Given the description of an element on the screen output the (x, y) to click on. 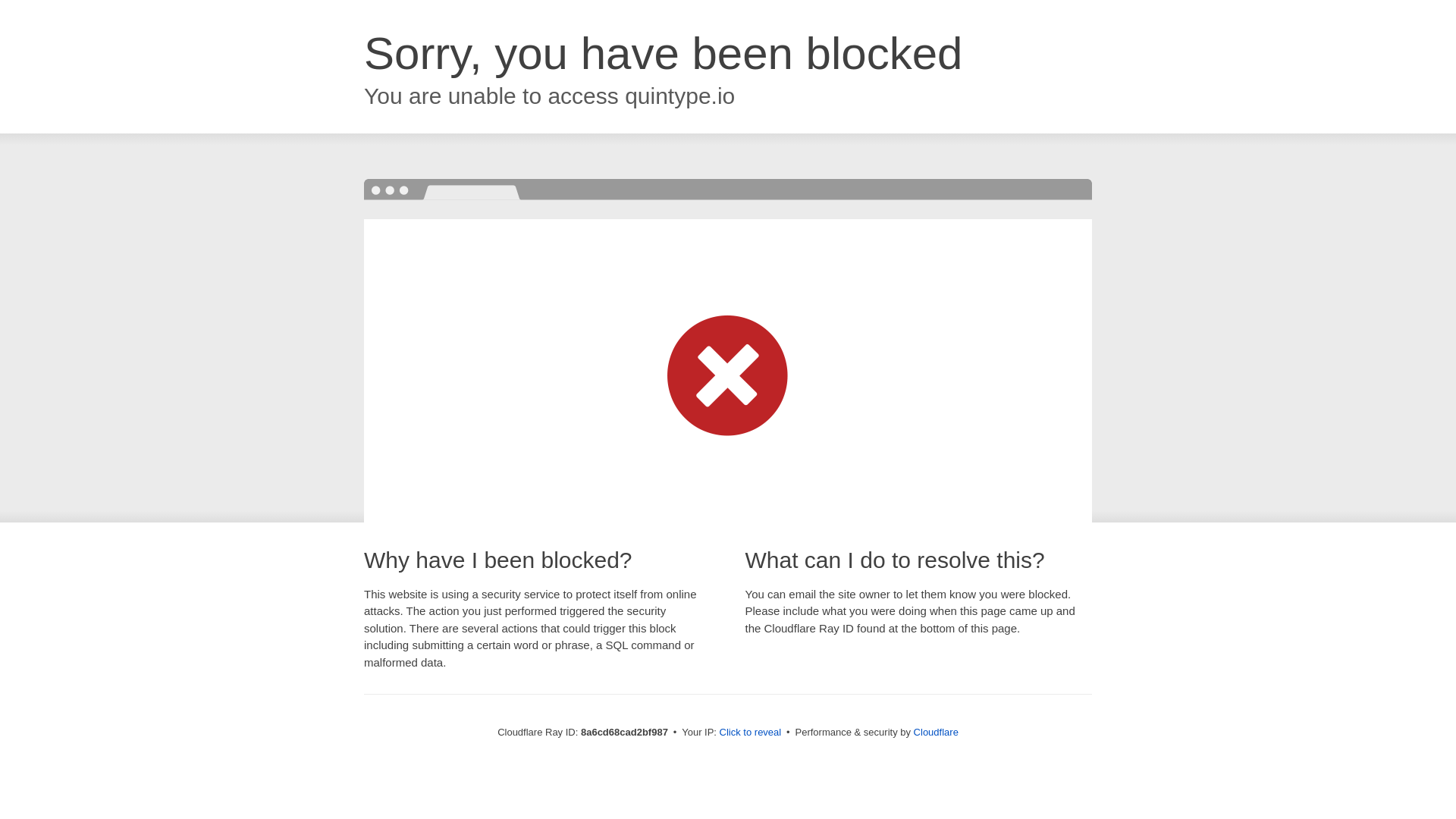
Click to reveal (750, 732)
Cloudflare (936, 731)
